Given the description of an element on the screen output the (x, y) to click on. 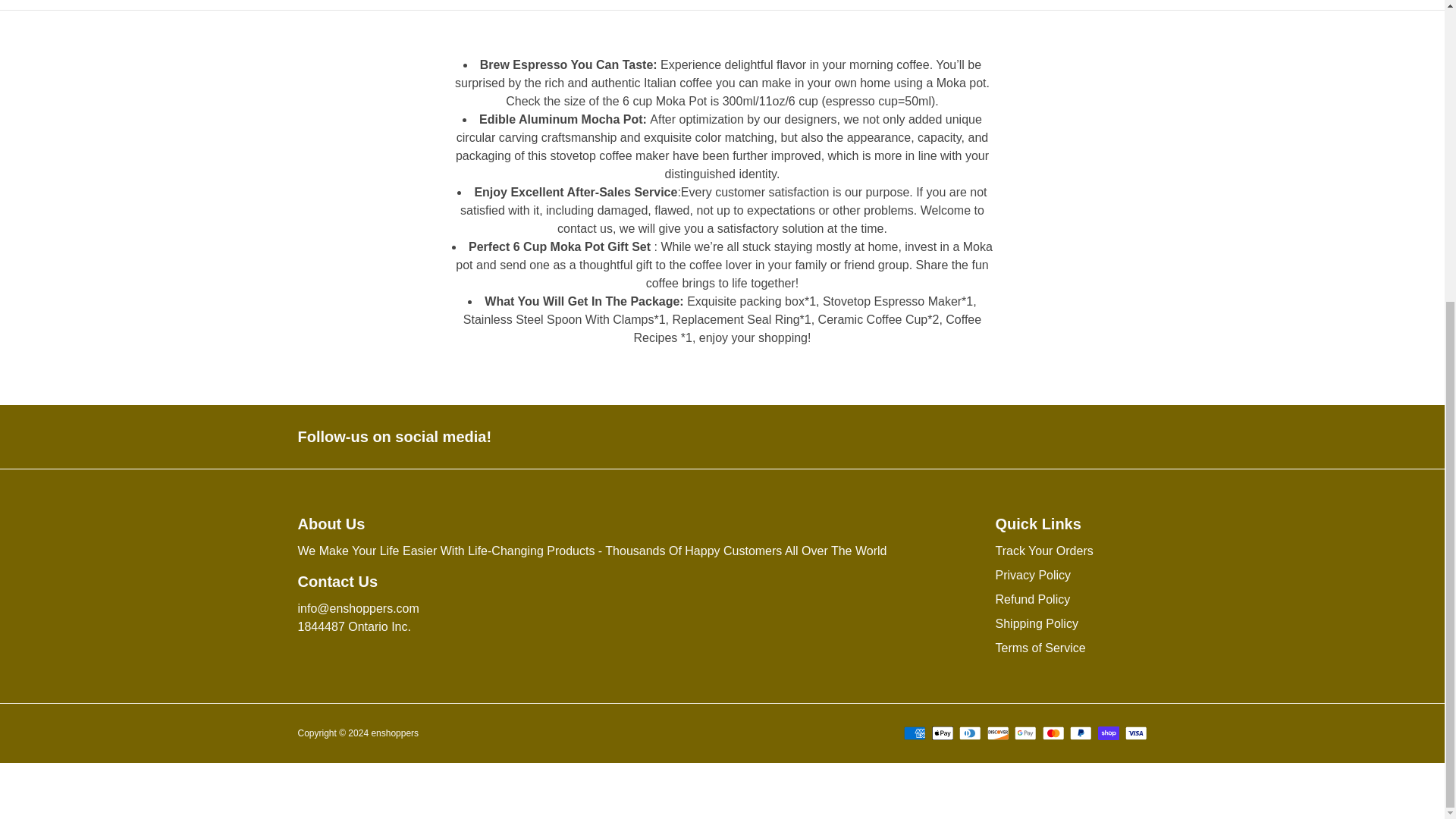
Diners Club (970, 733)
Visa (1136, 733)
American Express (915, 733)
Mastercard (1052, 733)
Discover (998, 733)
PayPal (1081, 733)
Google Pay (1025, 733)
Shop Pay (1108, 733)
Apple Pay (941, 733)
